Given the description of an element on the screen output the (x, y) to click on. 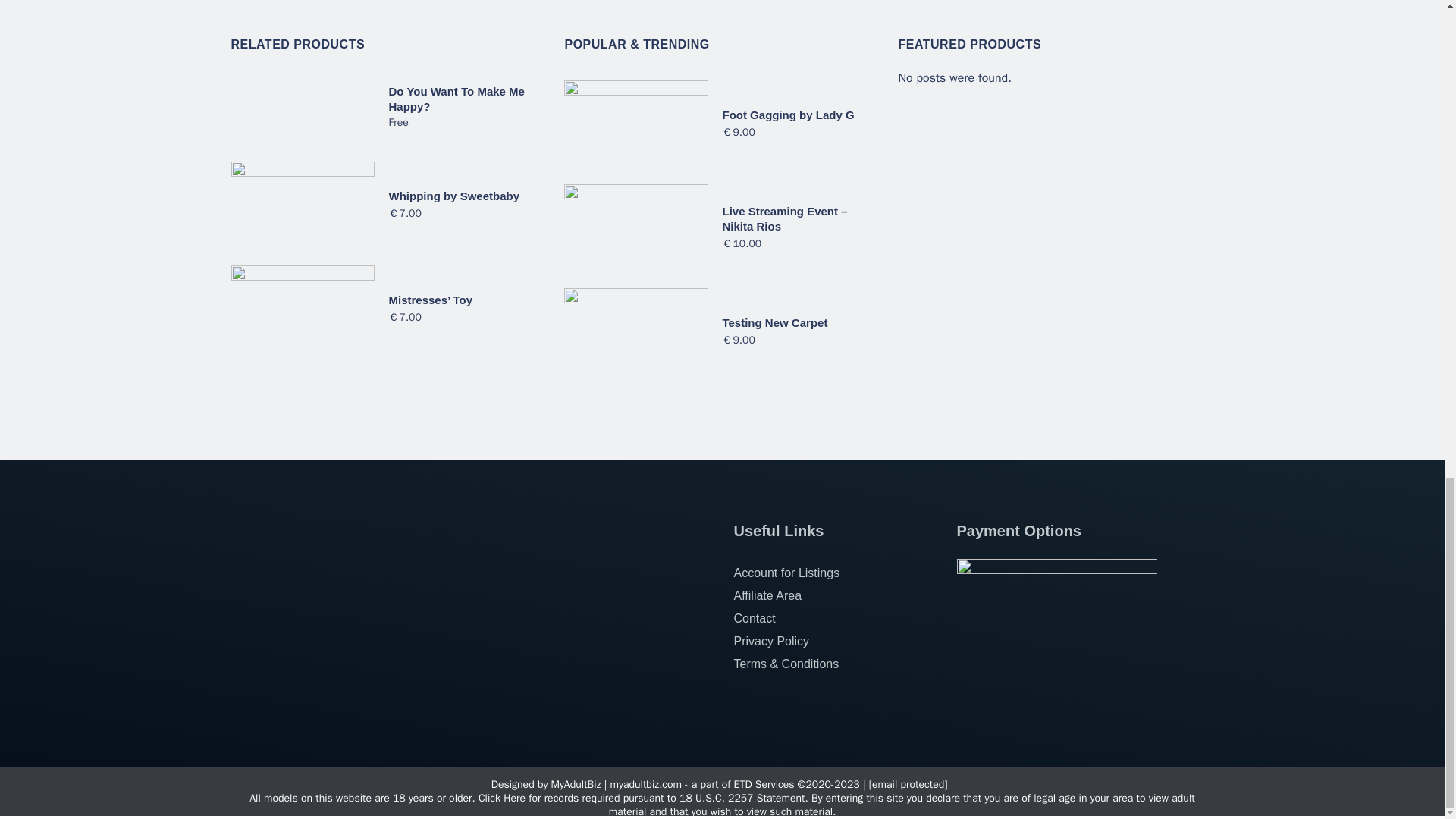
Foot Gagging by Lady G (787, 114)
Do You Want To Make Me Happy? (456, 99)
Whipping by Sweetbaby (453, 195)
